Given the description of an element on the screen output the (x, y) to click on. 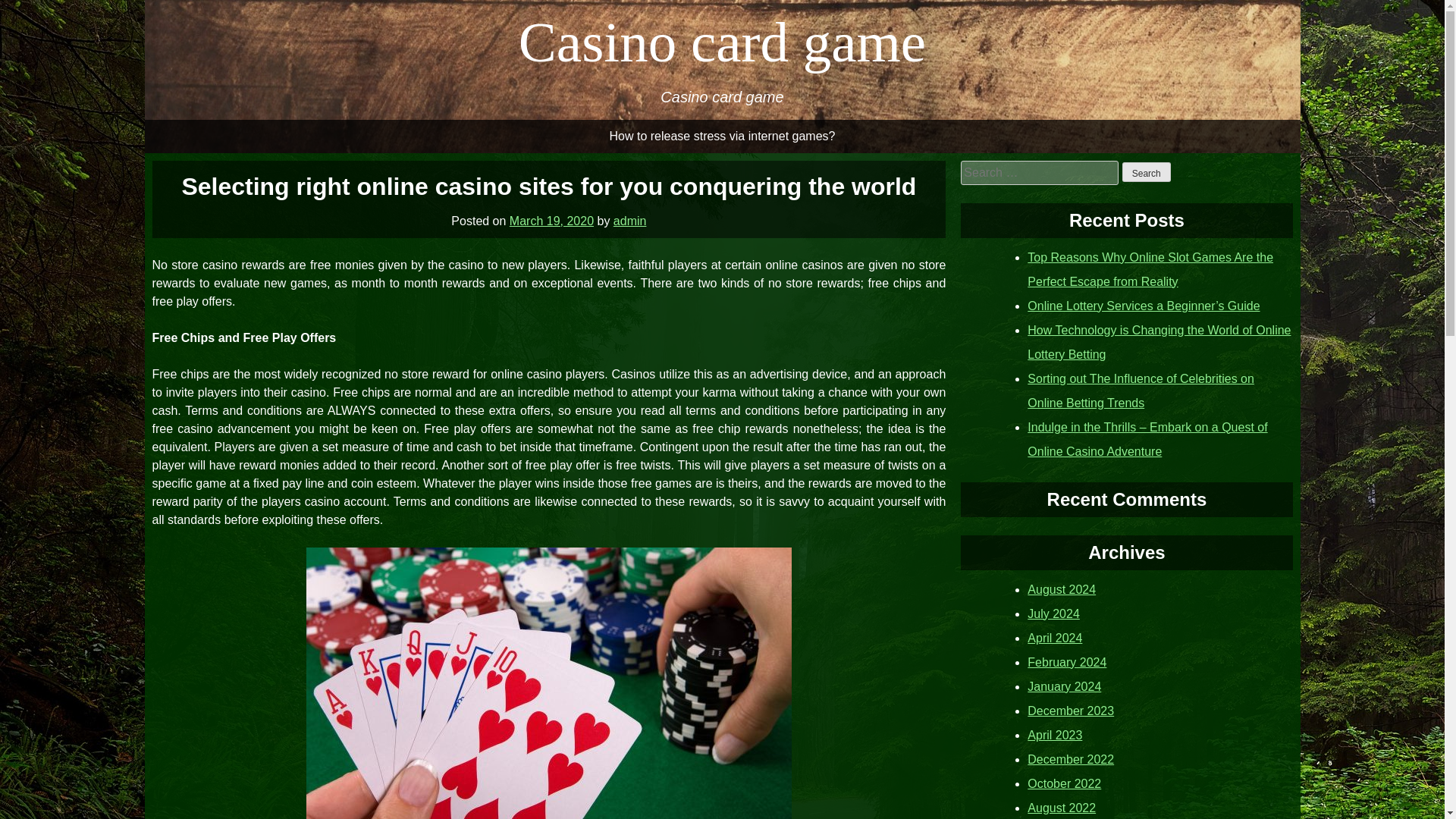
Search (1146, 171)
February 2024 (1066, 661)
How to release stress via internet games? (722, 136)
January 2024 (1063, 685)
December 2023 (1070, 709)
March 19, 2020 (551, 219)
October 2022 (1063, 782)
Casino card game (722, 41)
